Given the description of an element on the screen output the (x, y) to click on. 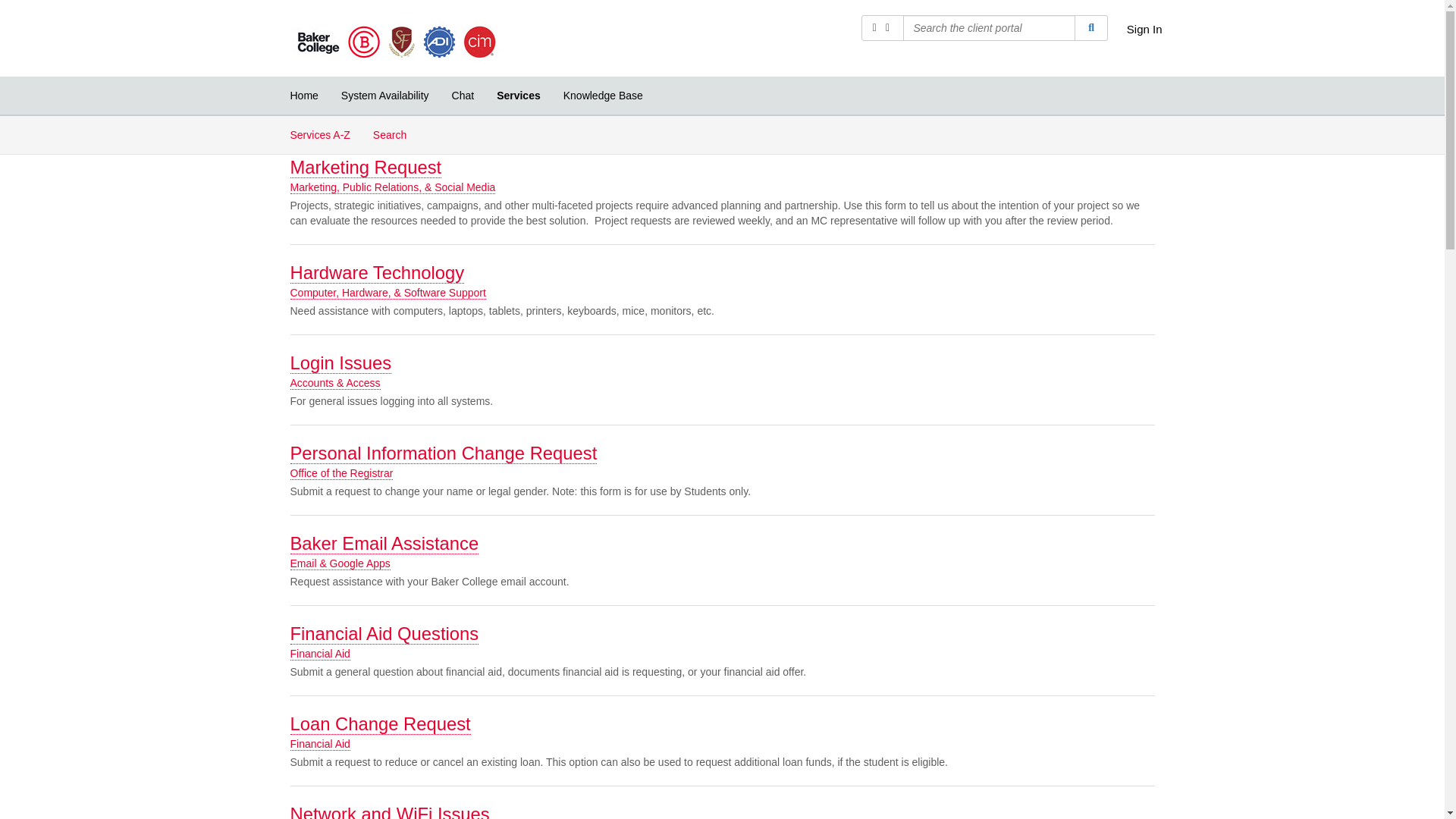
Sign In (1143, 29)
Financial Aid (319, 653)
System Availability (385, 95)
Services (517, 95)
Computer Software (367, 76)
Hardware Technology (376, 272)
Filter your search by category. Current category: (882, 27)
Network and WiFi Issues (389, 811)
Search (1091, 27)
Office of the Registrar (341, 472)
